Given the description of an element on the screen output the (x, y) to click on. 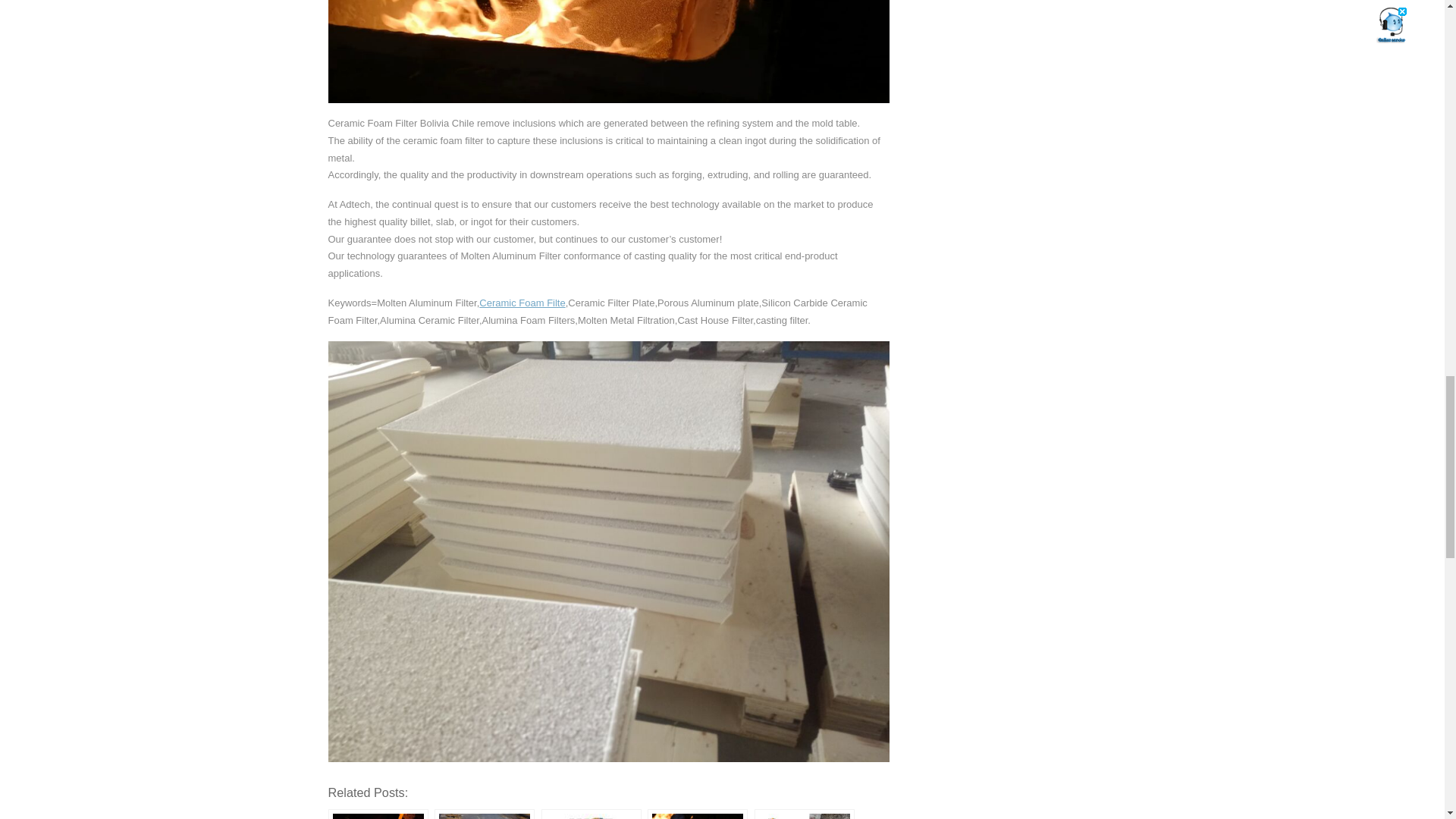
Aluminum Foundry Foam Ceramic Filter Operation (697, 814)
Ceramic Foam Filte (521, 302)
High Porosity Ceramic Filter (804, 814)
PAL Ceramic Filter Plate (483, 814)
Aluminum Foundry Foam Ceramic Filter Operation (697, 814)
High Porosity Ceramic Filter (804, 814)
Aluminum plant foam ceramic filter (591, 814)
Aluminum plant foam ceramic filter (591, 814)
Ceramic Filter Suppliers Aluminium Bolivia (377, 814)
Ceramic Filter Suppliers Aluminium Bolivia (377, 814)
PAL Ceramic Filter Plate (483, 814)
